Given the description of an element on the screen output the (x, y) to click on. 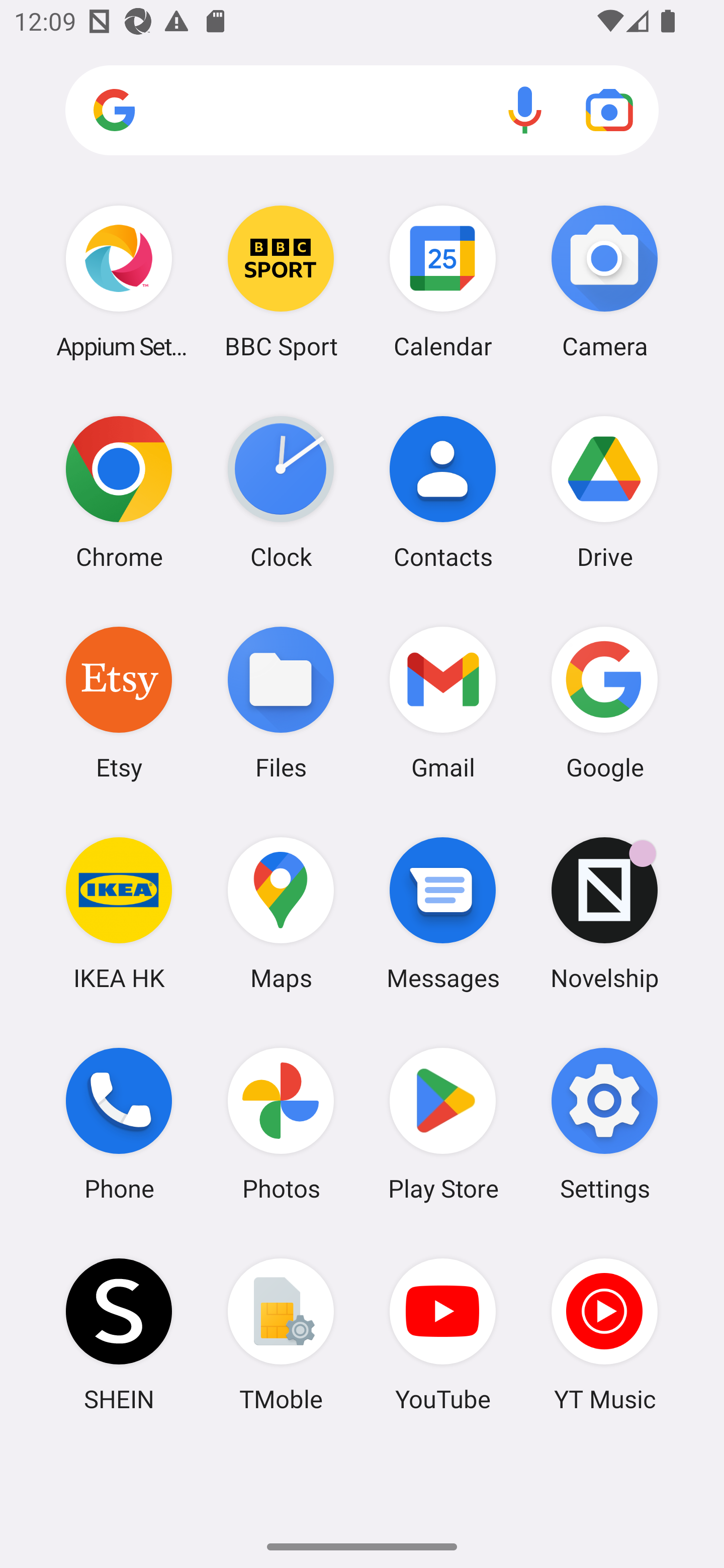
Search apps, web and more (361, 110)
Voice search (524, 109)
Google Lens (608, 109)
Appium Settings (118, 281)
BBC Sport (280, 281)
Calendar (443, 281)
Camera (604, 281)
Chrome (118, 492)
Clock (280, 492)
Contacts (443, 492)
Drive (604, 492)
Etsy (118, 702)
Files (280, 702)
Gmail (443, 702)
Google (604, 702)
IKEA HK (118, 913)
Maps (280, 913)
Messages (443, 913)
Novelship Novelship has 7 notifications (604, 913)
Phone (118, 1124)
Photos (280, 1124)
Play Store (443, 1124)
Settings (604, 1124)
SHEIN (118, 1334)
TMoble (280, 1334)
YouTube (443, 1334)
YT Music (604, 1334)
